Given the description of an element on the screen output the (x, y) to click on. 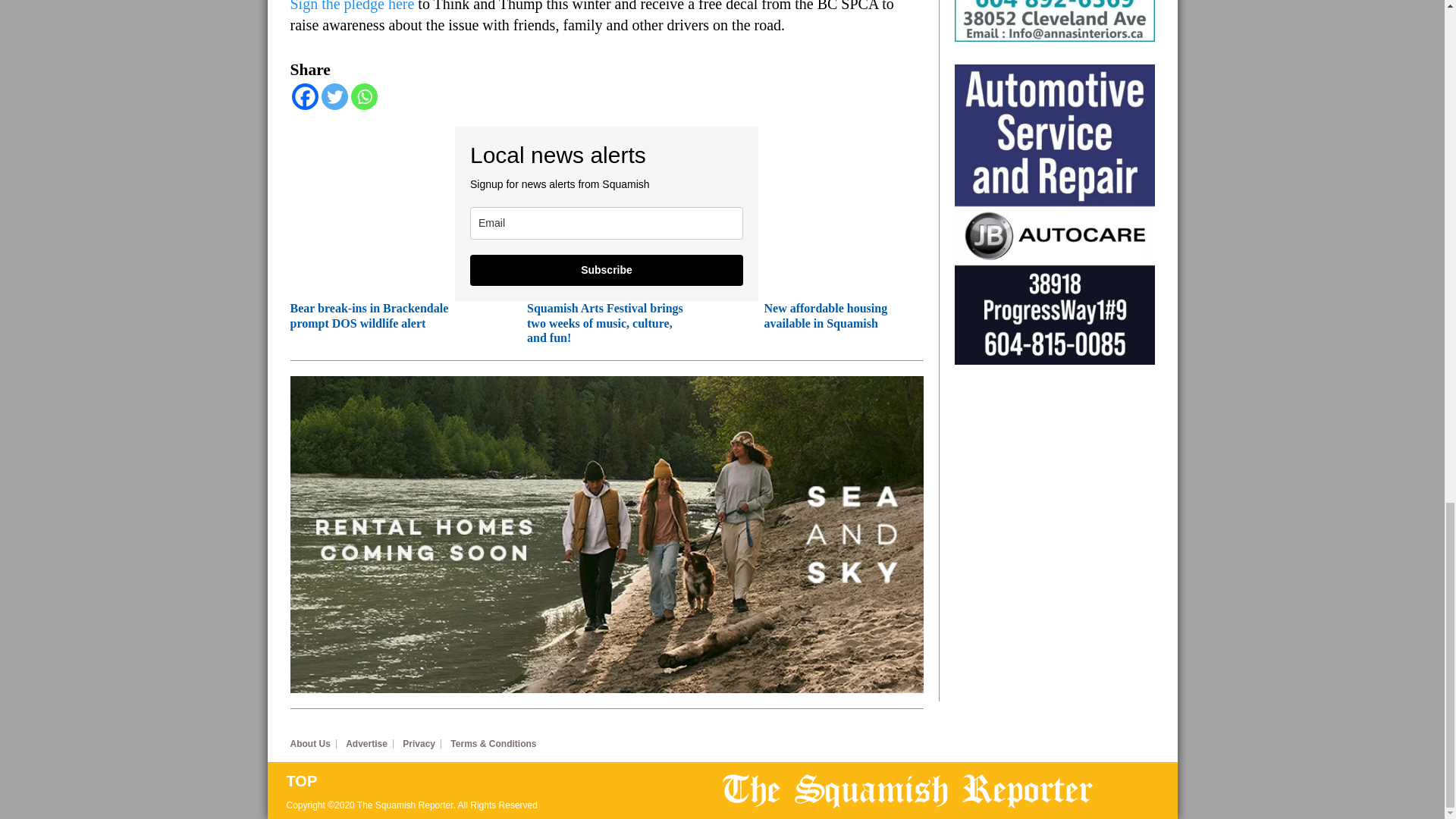
Subscribe (606, 269)
About Us (312, 743)
Back To Top (504, 780)
Twitter (334, 96)
Sign the pledge here (351, 6)
Facebook (304, 96)
Advertise (369, 743)
Whatsapp (363, 96)
